Given the description of an element on the screen output the (x, y) to click on. 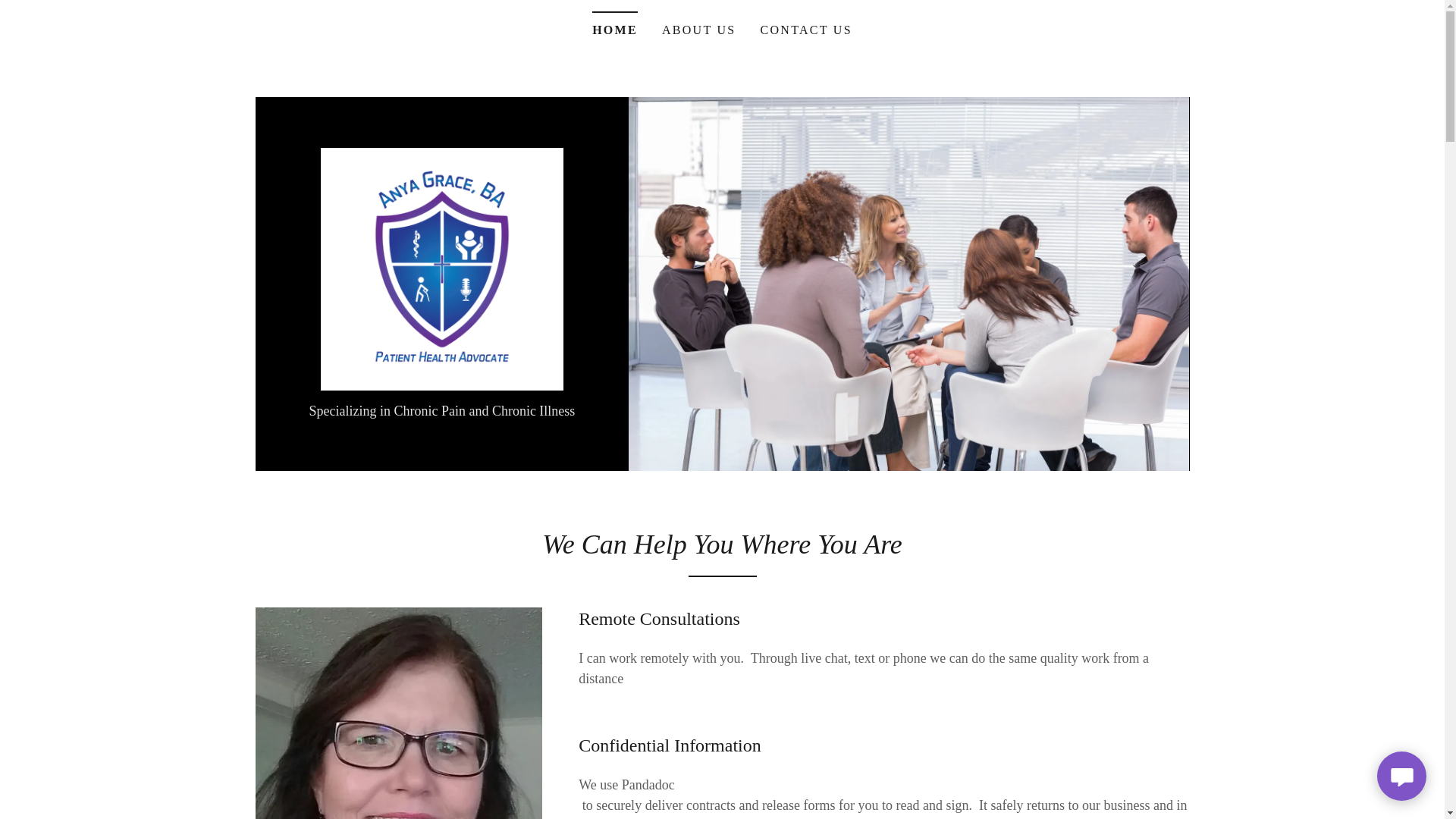
ABOUT US (699, 30)
     Anya Grace, BA (441, 267)
CONTACT US (806, 30)
HOME (614, 25)
